Given the description of an element on the screen output the (x, y) to click on. 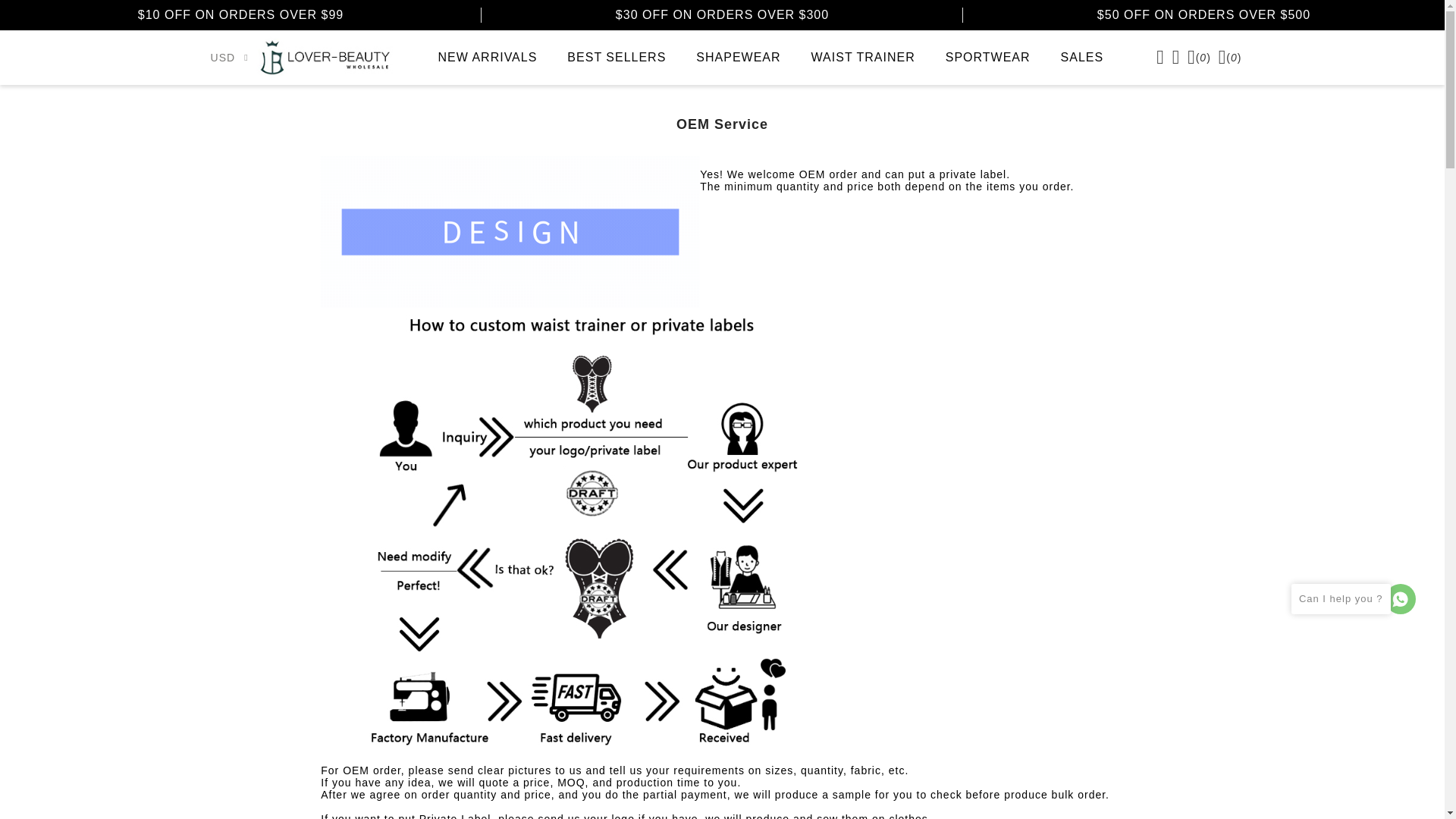
BEST SELLERS (616, 57)
1600311734573916.gif (510, 231)
NEW ARRIVALS (488, 57)
WAIST TRAINER (863, 57)
SHAPEWEAR (737, 57)
SPORTWEAR (987, 57)
